Given the description of an element on the screen output the (x, y) to click on. 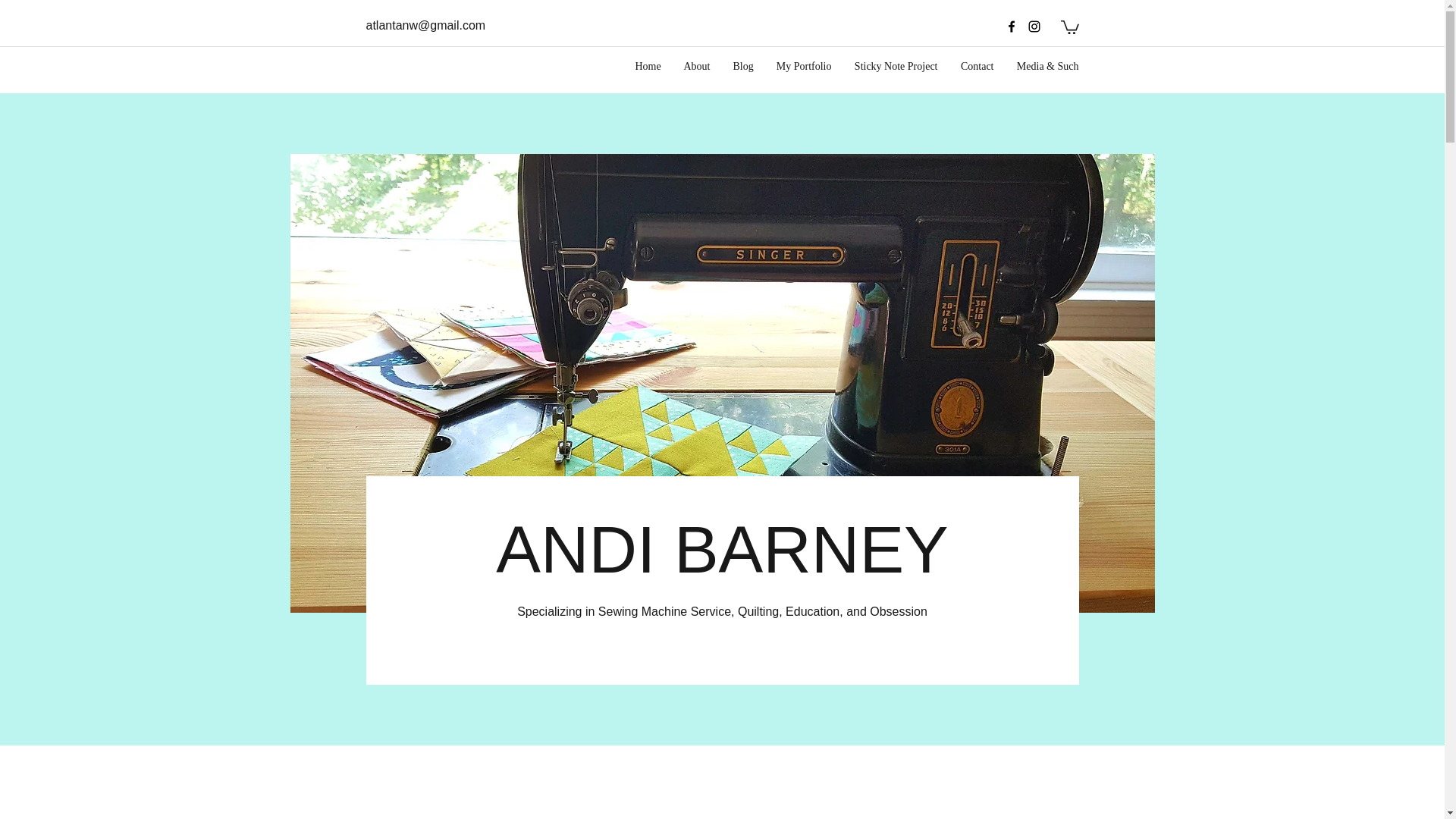
Contact (977, 66)
My Portfolio (803, 66)
Home (647, 66)
About (695, 66)
Blog (743, 66)
Sticky Note Project (896, 66)
